Given the description of an element on the screen output the (x, y) to click on. 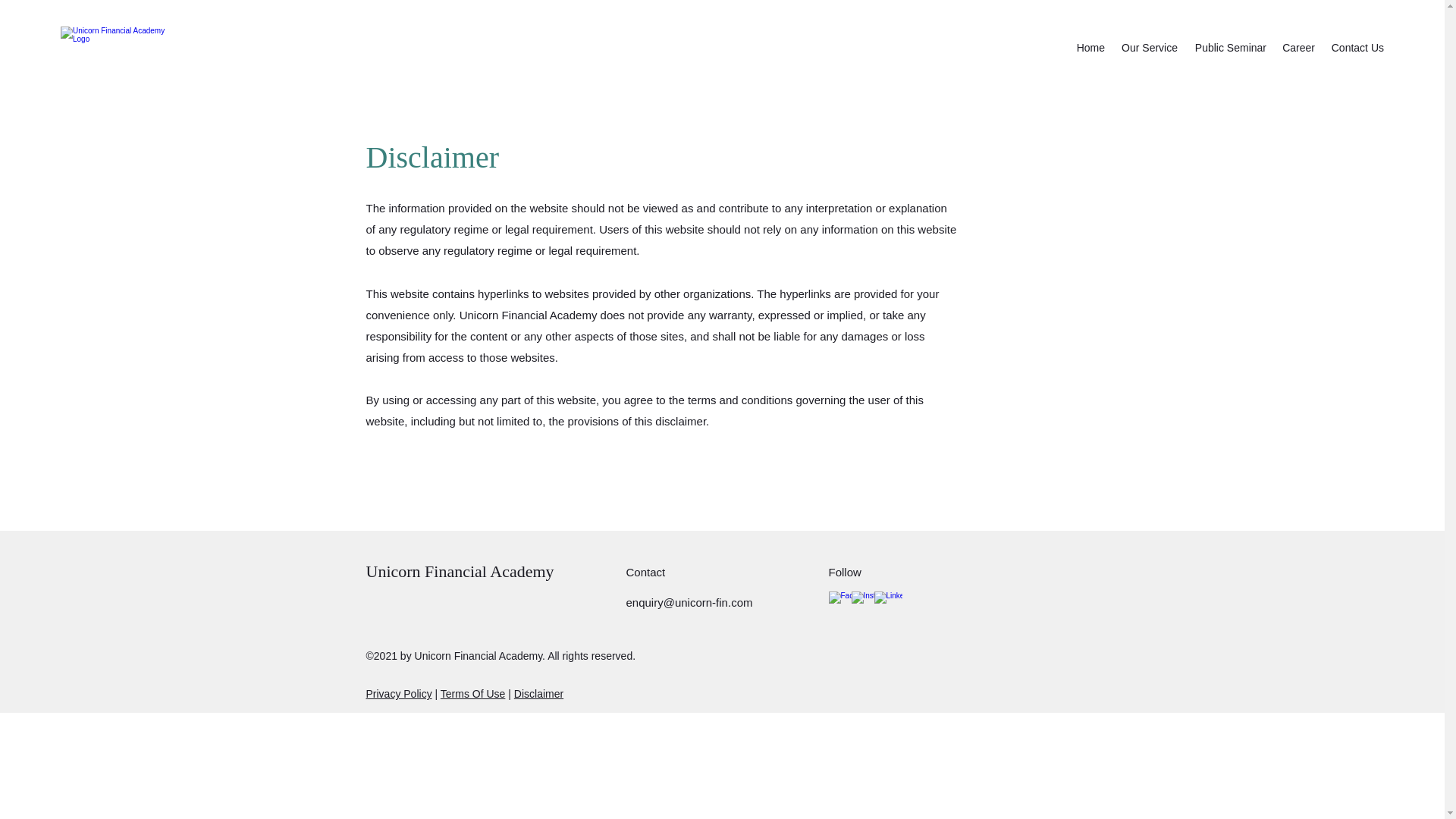
Privacy Policy (397, 693)
Home (1090, 47)
Career (1298, 47)
Public Seminar (1229, 47)
Disclaimer (538, 693)
Contact Us (1356, 47)
Our Service (1148, 47)
Terms Of Use (473, 693)
